Given the description of an element on the screen output the (x, y) to click on. 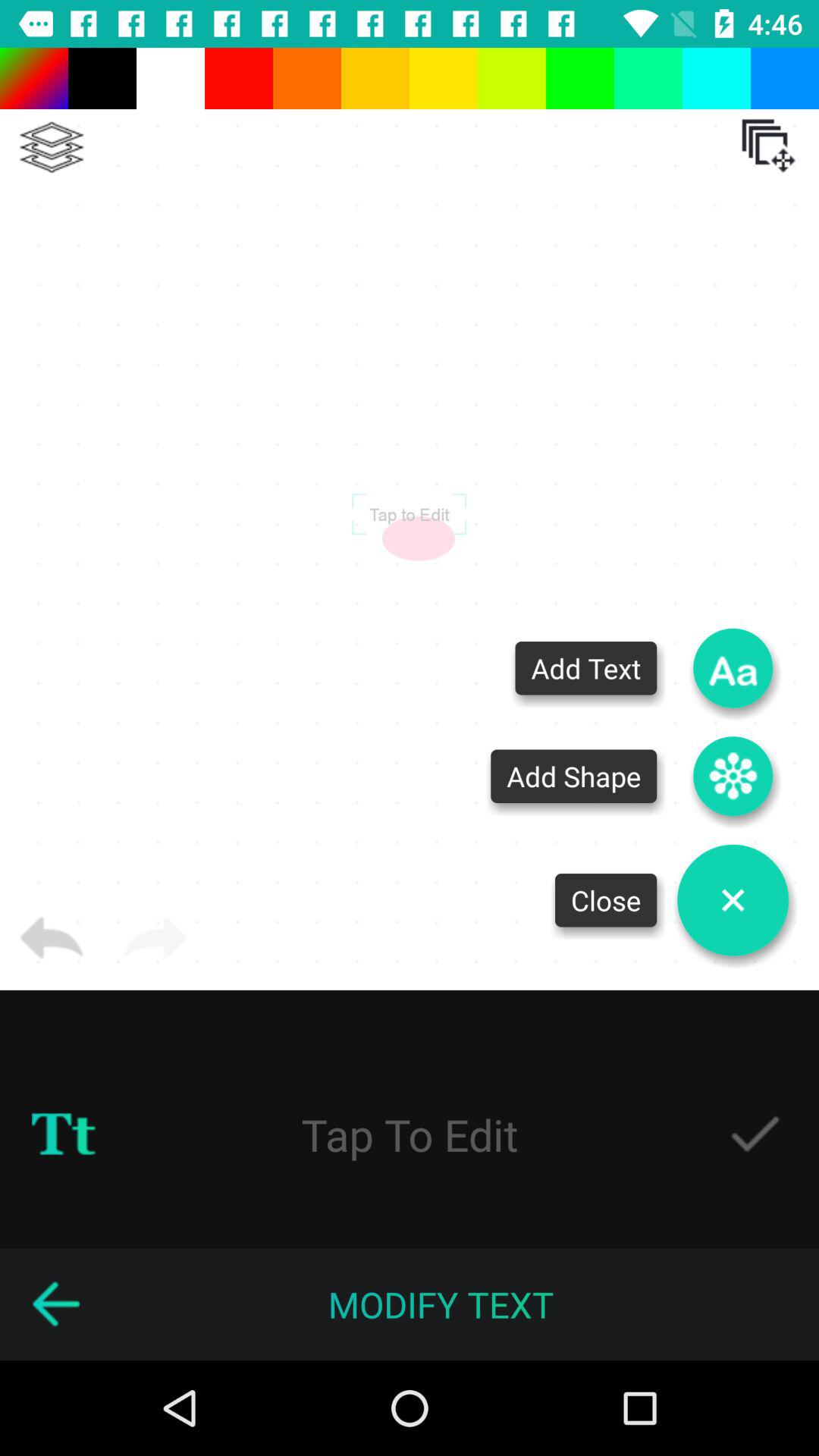
return to text (55, 1304)
